Given the description of an element on the screen output the (x, y) to click on. 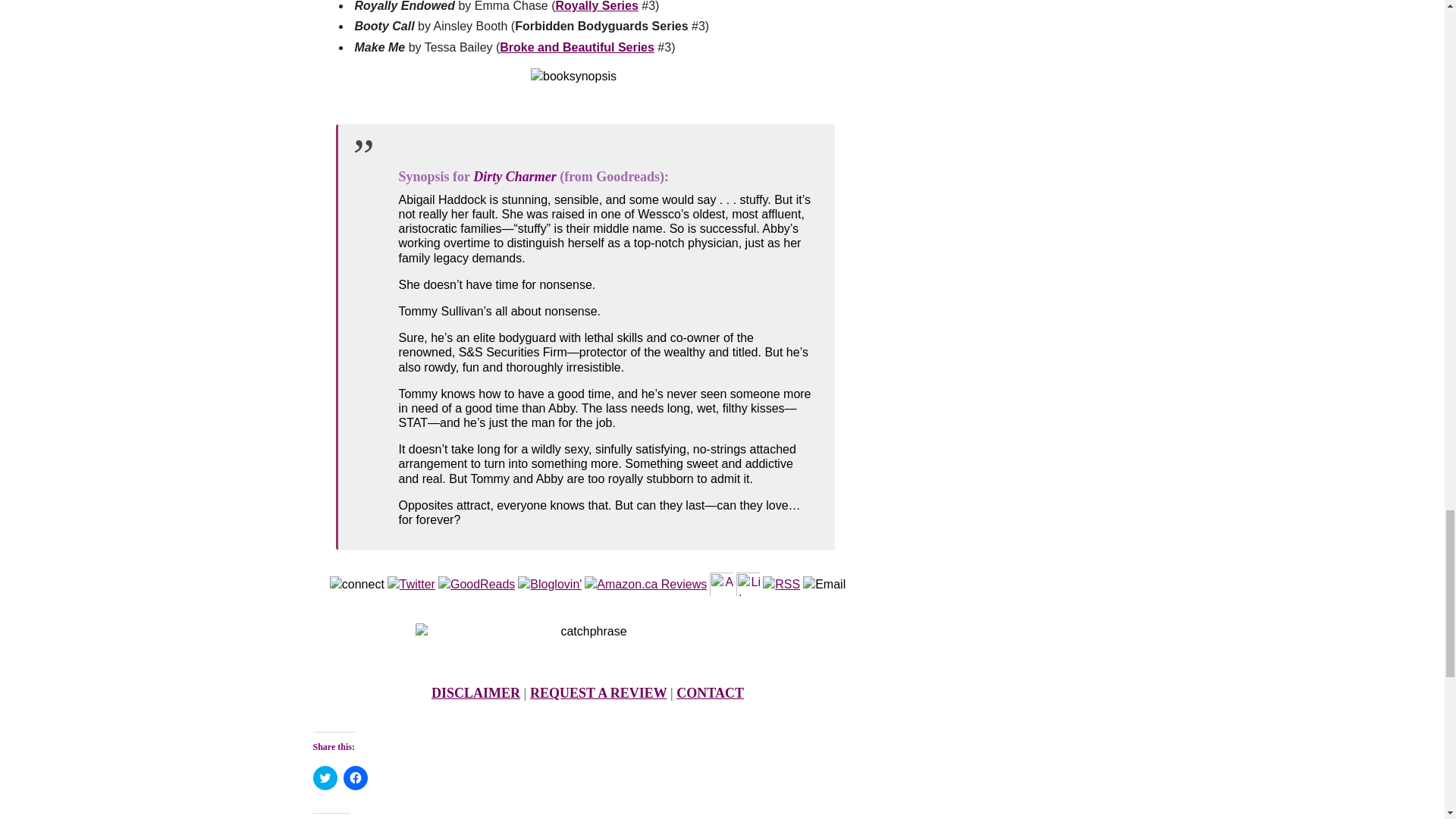
LibraryThing (748, 583)
Twitter (410, 584)
Broke and Beautiful Series (576, 47)
Bloglovin (549, 584)
REQUEST A REVIEW (597, 693)
LibraryThing (748, 584)
Goodreads (476, 584)
CONTACT (710, 693)
DISCLAIMER (474, 693)
RSS (781, 584)
